Given the description of an element on the screen output the (x, y) to click on. 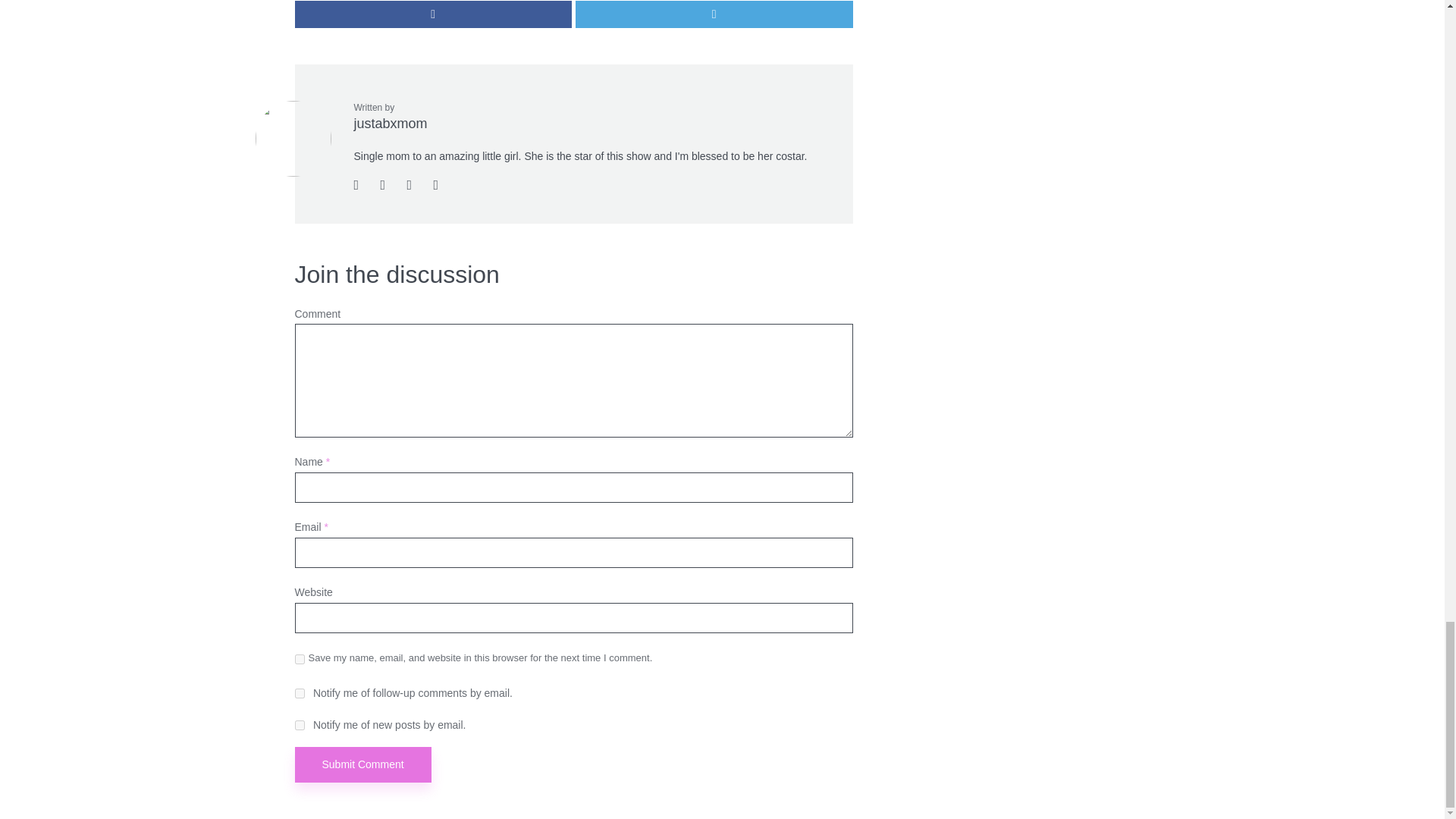
subscribe (299, 725)
Submit Comment (362, 764)
justabxmom (389, 123)
subscribe (299, 693)
